Given the description of an element on the screen output the (x, y) to click on. 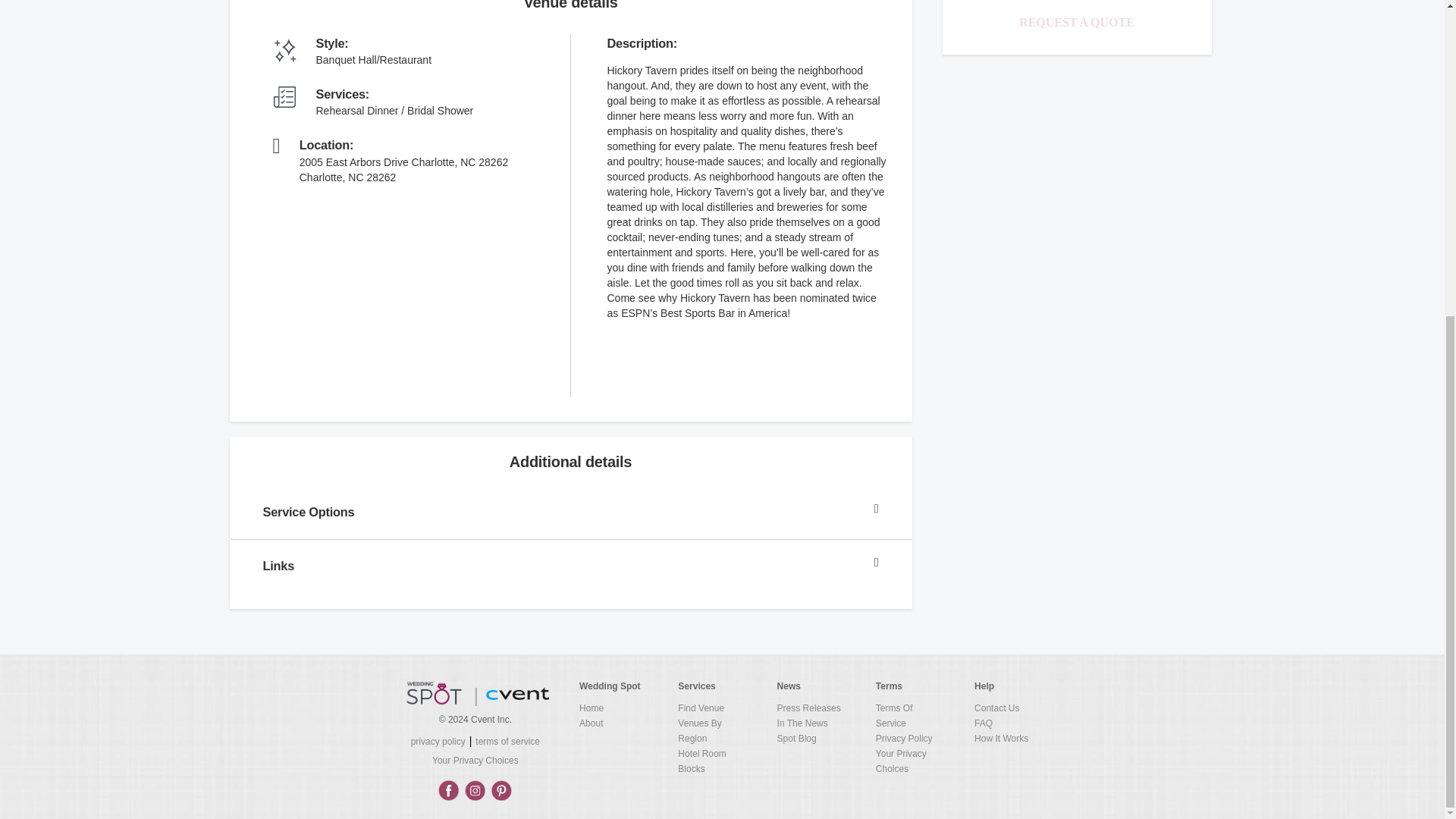
Wedding Spot Facebook Profile (448, 790)
Wedding Spot Instagram (474, 790)
cvent.com (517, 693)
Wedding Spot Pinterest Profile (501, 790)
